Given the description of an element on the screen output the (x, y) to click on. 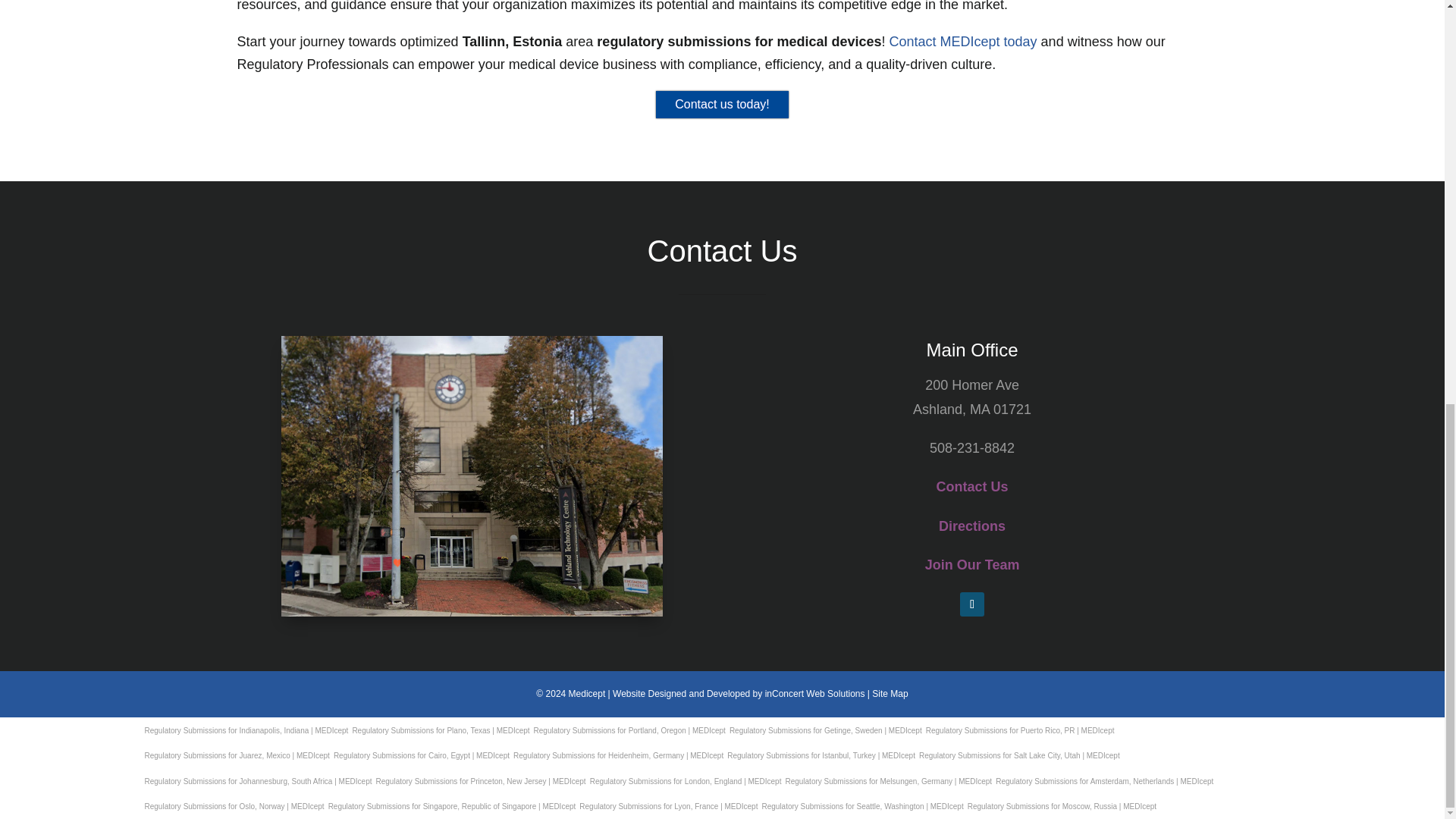
medicept2 (471, 475)
Follow on LinkedIn (971, 604)
